Given the description of an element on the screen output the (x, y) to click on. 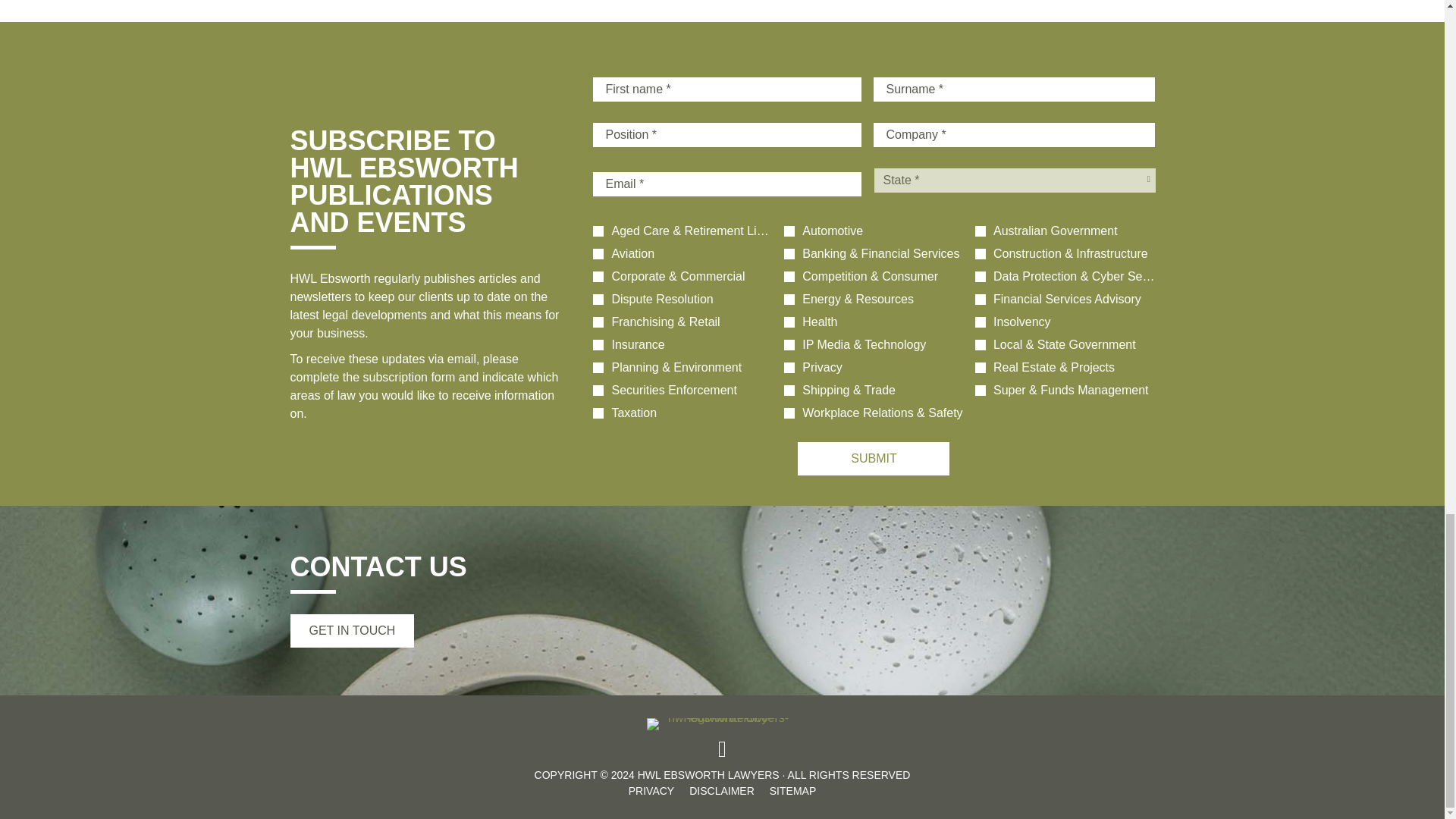
SITEMAP (792, 790)
DISCLAIMER (721, 790)
Submit (873, 458)
PRIVACY (651, 790)
GET IN TOUCH (351, 630)
hwl-ebsworth-lawyers-logo-white-500 (721, 724)
Submit (873, 458)
Click Here (351, 630)
